Given the description of an element on the screen output the (x, y) to click on. 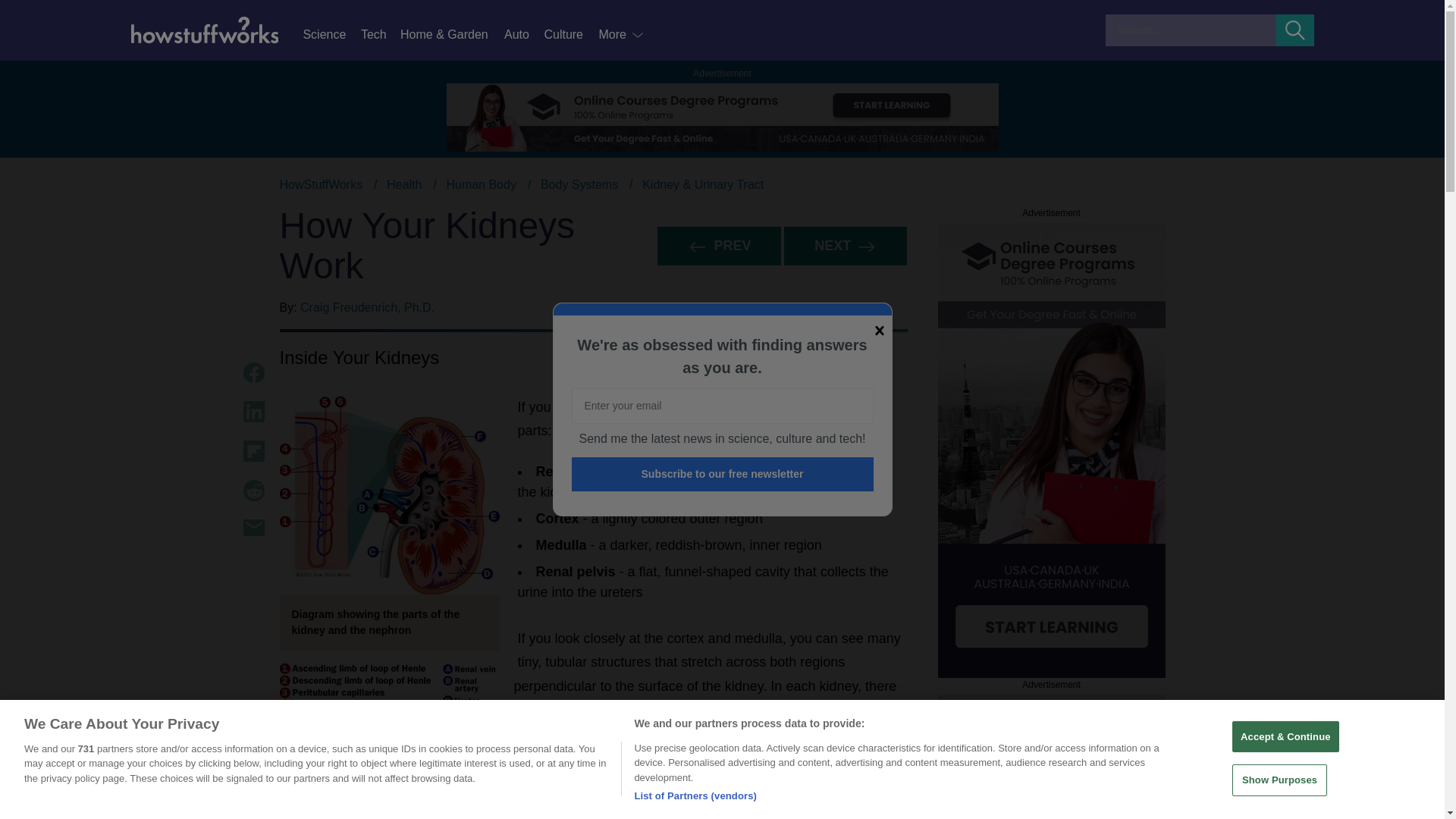
Culture (570, 34)
Auto (523, 34)
Submit Search (1295, 29)
Science (330, 34)
Share Content on Reddit (253, 490)
Subscribe to our free newsletter (722, 474)
HowStuffWorks (320, 184)
Share Content on Flipboard (253, 450)
More (621, 34)
Share Content on Facebook (253, 372)
Share Content via Email (253, 527)
Share Content on LinkedIn (253, 411)
Tech (380, 34)
